Given the description of an element on the screen output the (x, y) to click on. 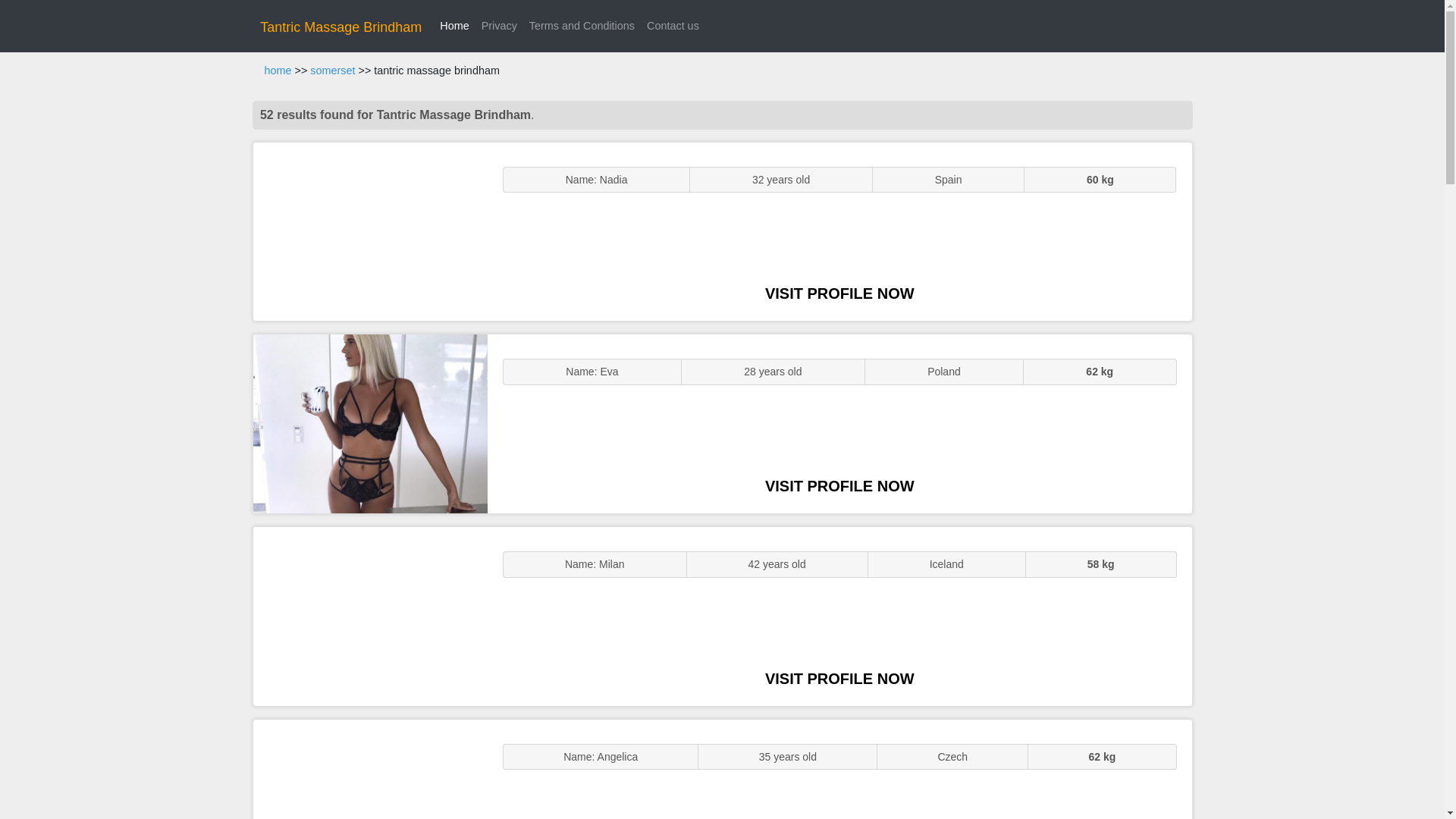
Sexy (370, 616)
Contact us (672, 25)
VISIT PROFILE NOW (839, 485)
GFE (370, 423)
Sluts (370, 769)
VISIT PROFILE NOW (839, 293)
Privacy (499, 25)
 ENGLISH STUNNER (370, 231)
Tantric Massage Brindham (341, 27)
VISIT PROFILE NOW (839, 678)
home (277, 70)
somerset (332, 70)
Terms and Conditions (581, 25)
